Given the description of an element on the screen output the (x, y) to click on. 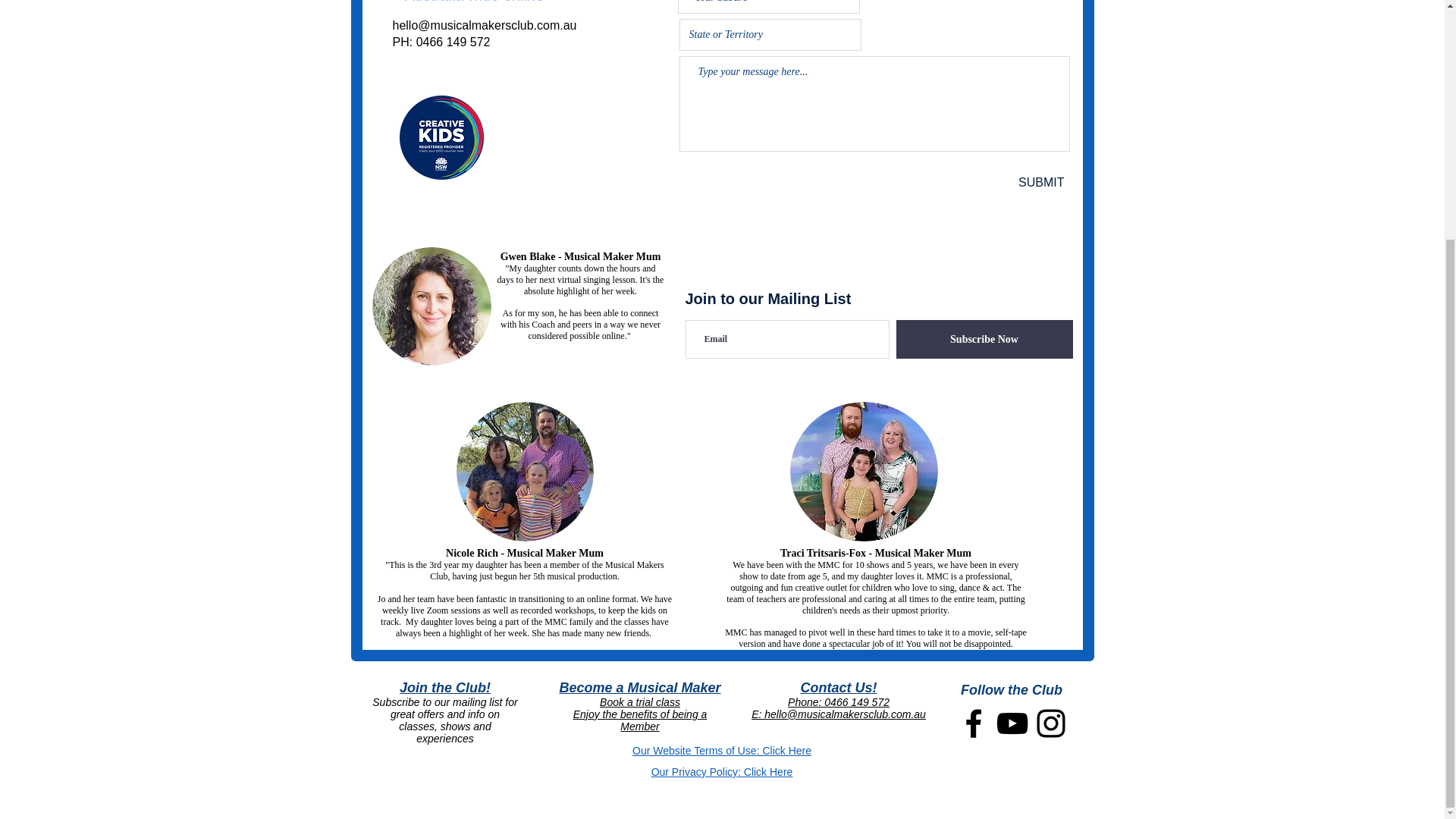
Phone: 0466 149 572 (838, 702)
Book a trial class (639, 702)
Enjoy the benefits of being a Member (640, 720)
0466 149 572 (453, 42)
Contact Us! (837, 687)
Subscribe Now (984, 339)
Become a Musical Maker (639, 687)
Our Website Terms of Use: Click Here (720, 750)
SUBMIT (1016, 182)
Our Privacy Policy: Click Here (721, 771)
